Given the description of an element on the screen output the (x, y) to click on. 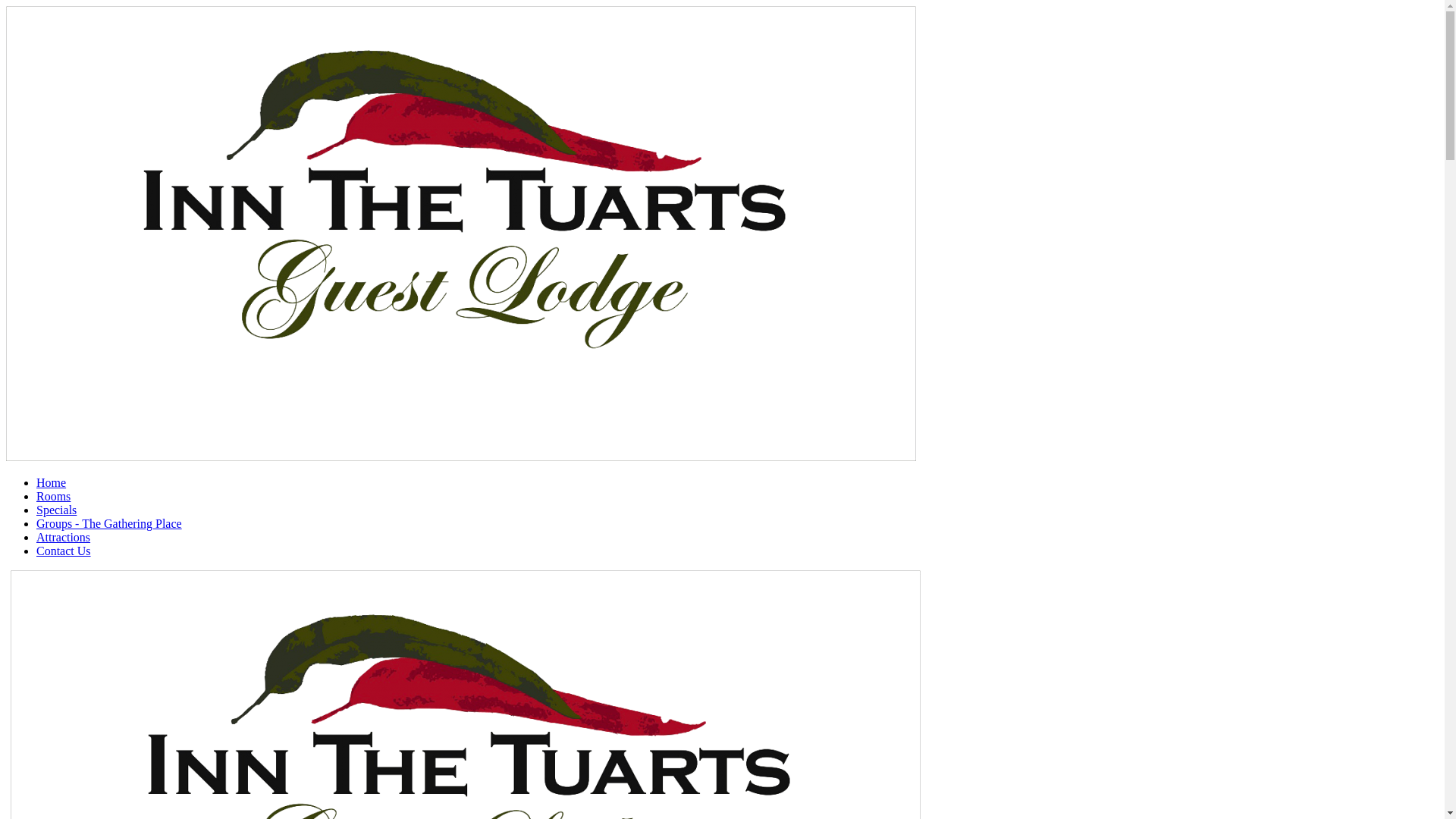
Attractions Element type: text (63, 536)
Specials Element type: text (56, 509)
Contact Us Element type: text (63, 550)
Groups - The Gathering Place Element type: text (109, 523)
Rooms Element type: text (53, 495)
Home Element type: text (50, 482)
